Given the description of an element on the screen output the (x, y) to click on. 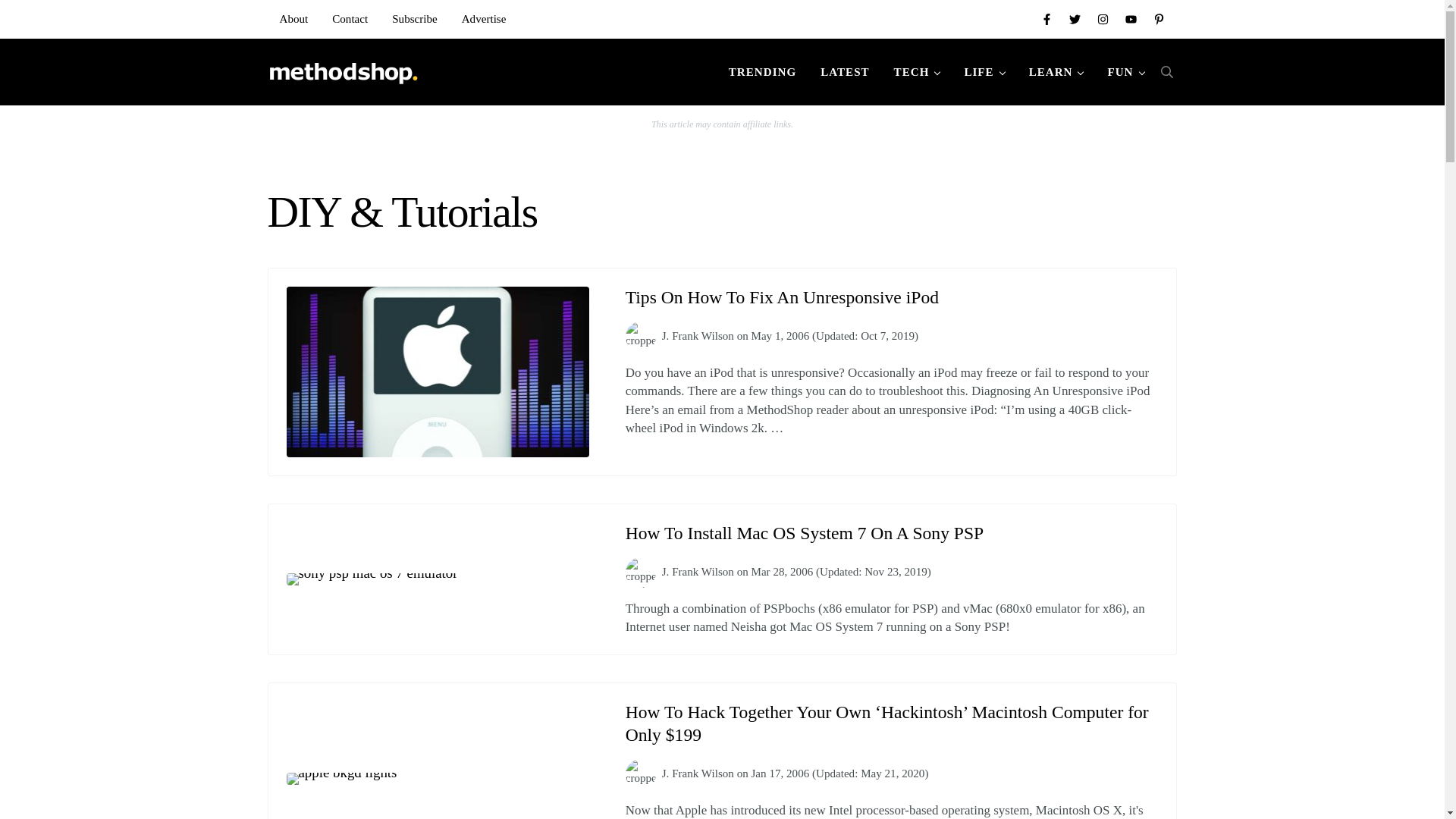
LATEST (844, 71)
TECH (917, 71)
Contact (350, 18)
LEARN (1056, 71)
LIFE (984, 71)
About (293, 18)
TRENDING (762, 71)
Subscribe (414, 18)
Advertise (483, 18)
